Given the description of an element on the screen output the (x, y) to click on. 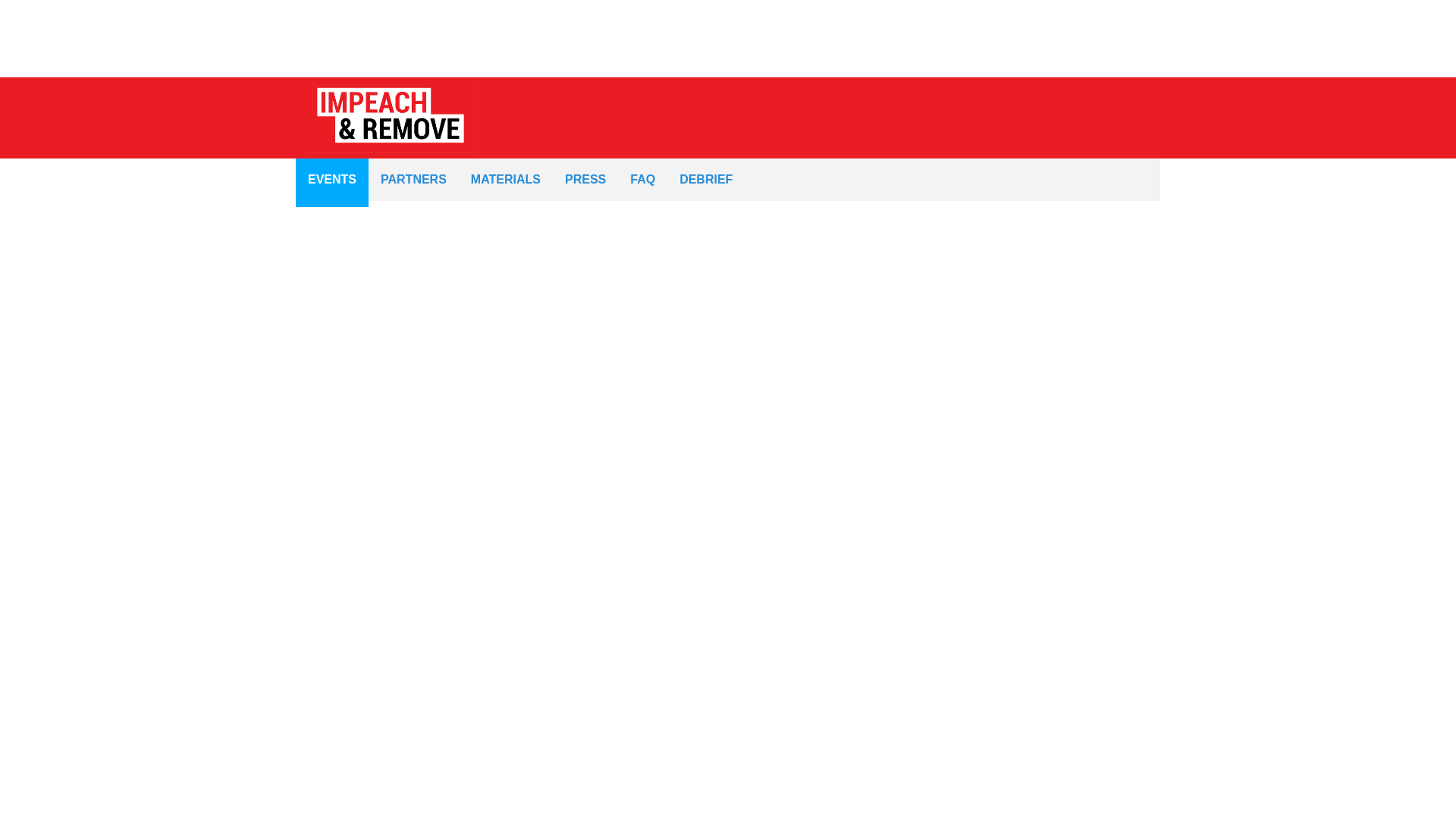
FAQ (642, 178)
PARTNERS (413, 178)
DEBRIEF (705, 178)
PRESS (584, 178)
MATERIALS (505, 178)
EVENTS (331, 178)
